Given the description of an element on the screen output the (x, y) to click on. 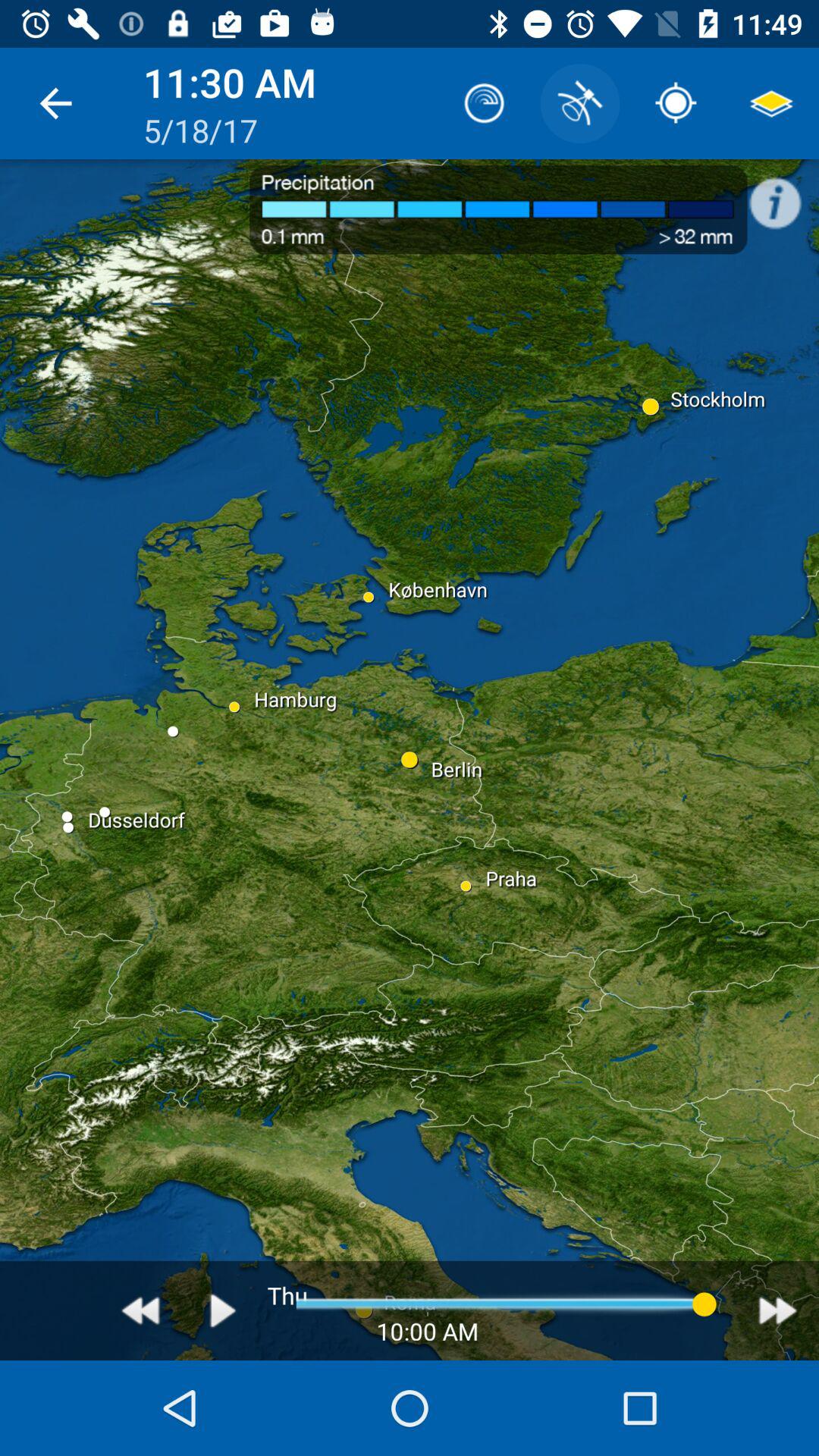
rewind (140, 1310)
